Given the description of an element on the screen output the (x, y) to click on. 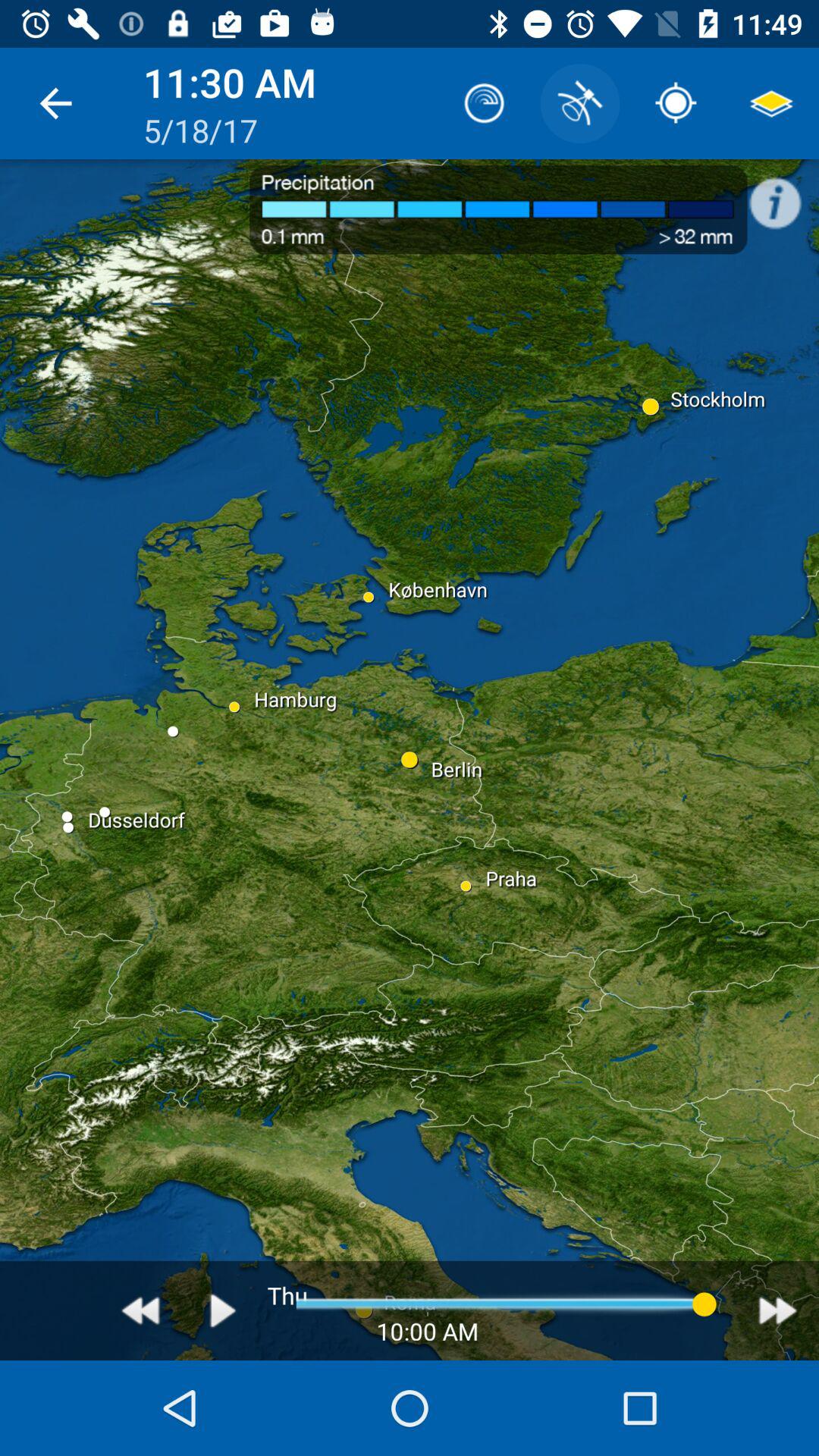
rewind (140, 1310)
